Given the description of an element on the screen output the (x, y) to click on. 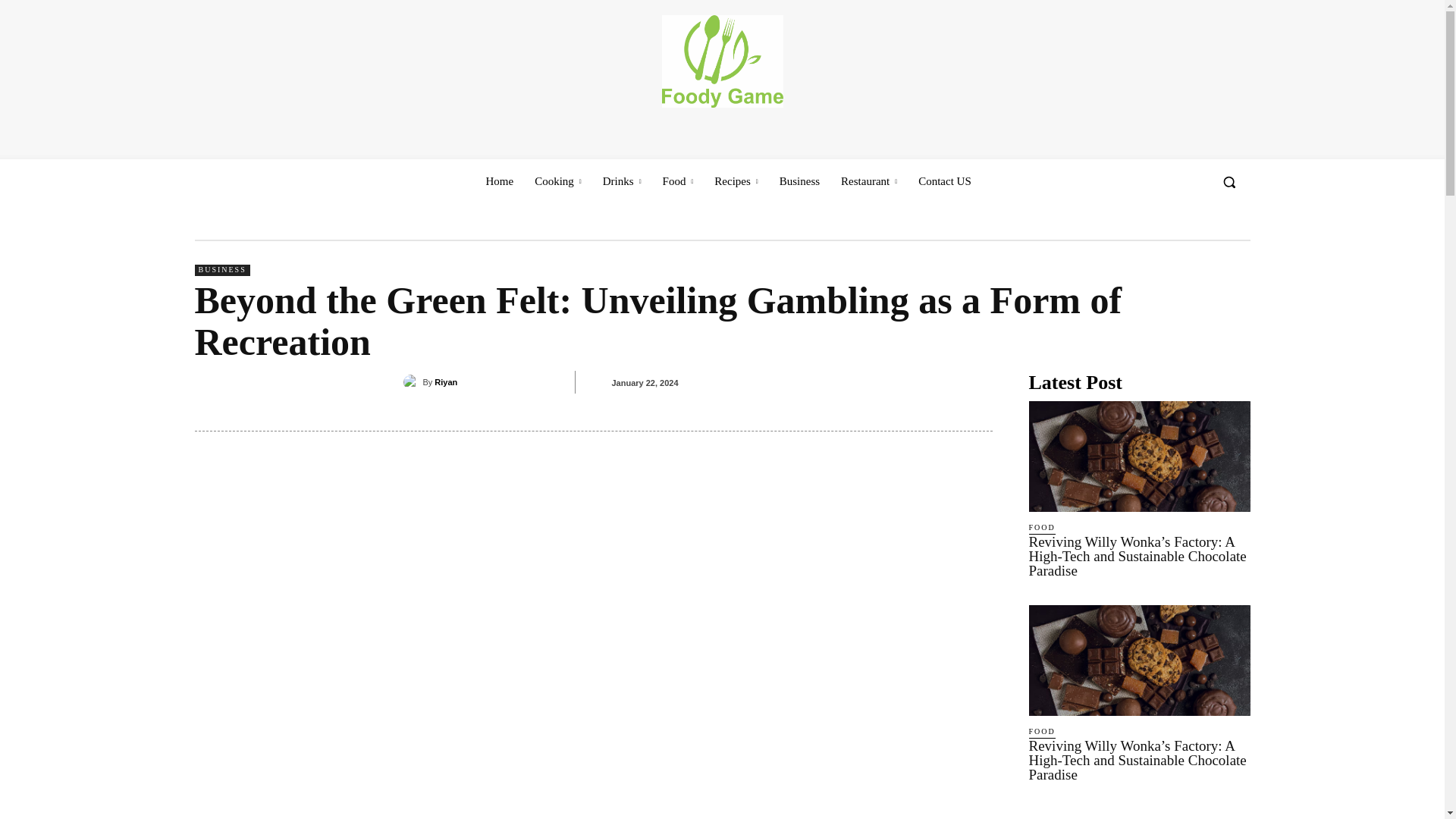
Home (499, 180)
Cooking (558, 180)
Drinks (622, 180)
